Given the description of an element on the screen output the (x, y) to click on. 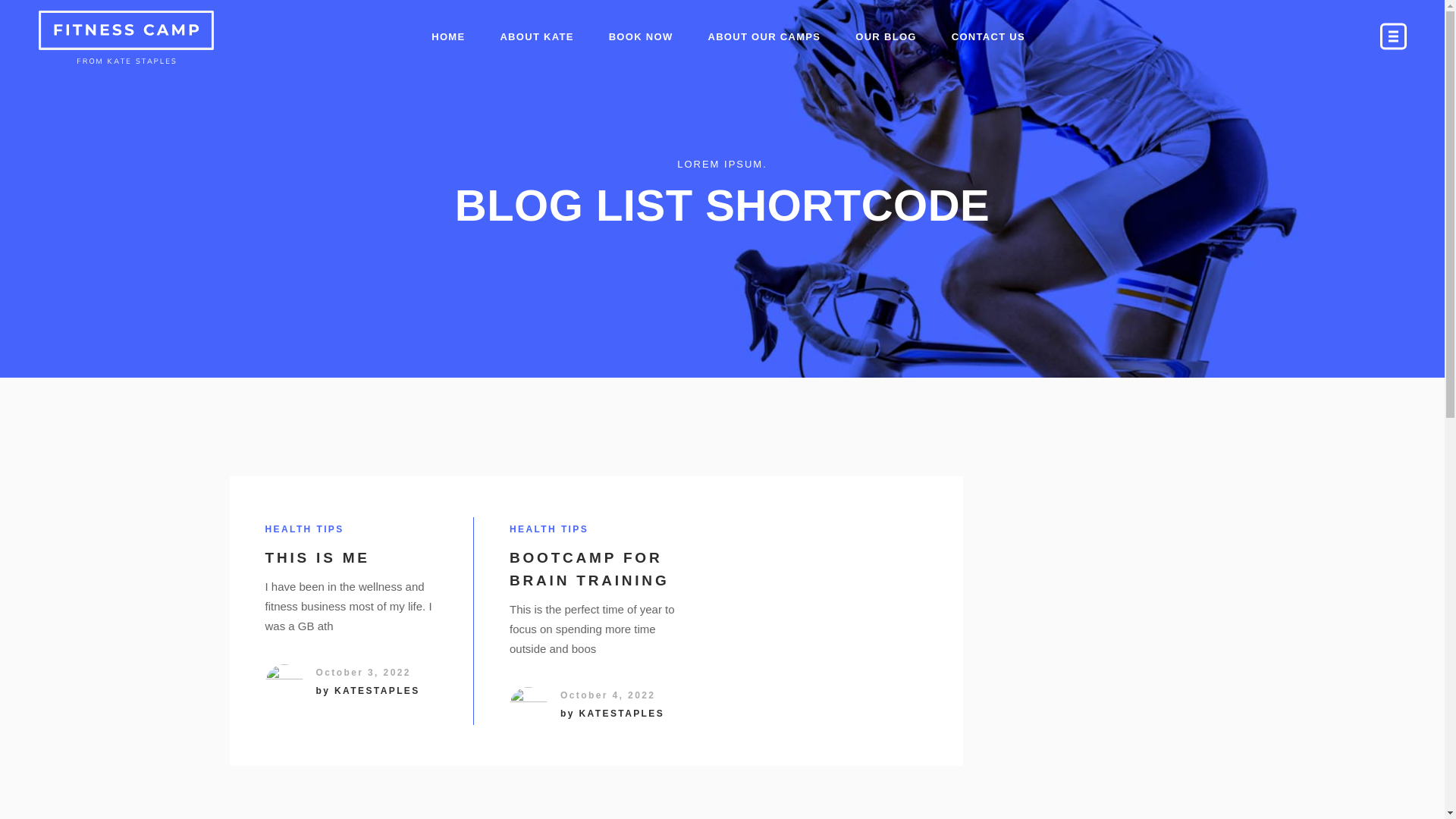
HOME (447, 37)
KATESTAPLES (622, 713)
HEALTH TIPS (548, 528)
KATESTAPLES (377, 690)
ABOUT KATE (536, 37)
BOOTCAMP FOR BRAIN TRAINING (588, 568)
CONTACT US (988, 37)
HEALTH TIPS (303, 528)
ABOUT OUR CAMPS (764, 37)
THIS IS ME (316, 557)
BOOK NOW (640, 37)
OUR BLOG (885, 37)
